Given the description of an element on the screen output the (x, y) to click on. 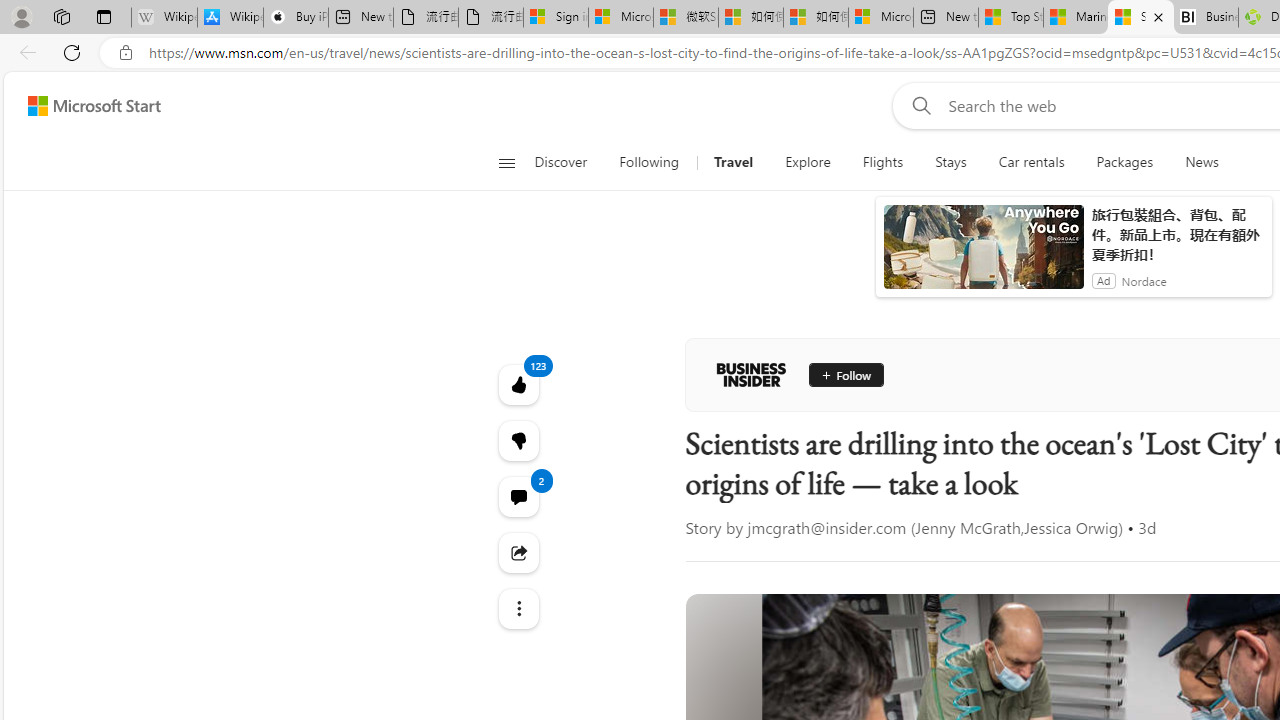
123 Like (517, 384)
Share this story (517, 552)
Sign in to your Microsoft account (555, 17)
Marine life - MSN (1076, 17)
Web search (917, 105)
Stays (950, 162)
